Given the description of an element on the screen output the (x, y) to click on. 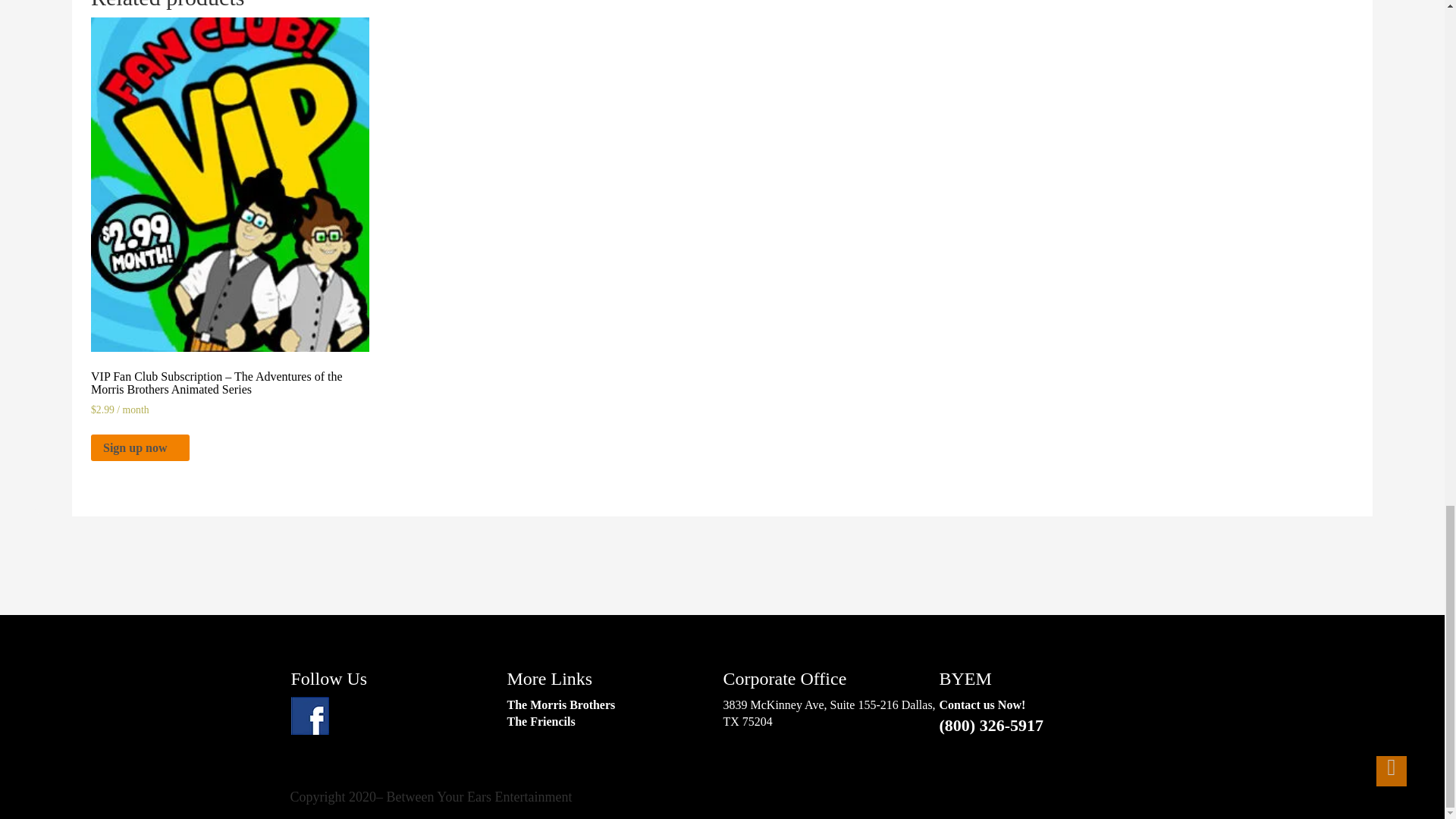
Sign up now (139, 447)
The Friencils (540, 721)
Contact us Now! (982, 704)
The Morris Brothers (560, 704)
